Given the description of an element on the screen output the (x, y) to click on. 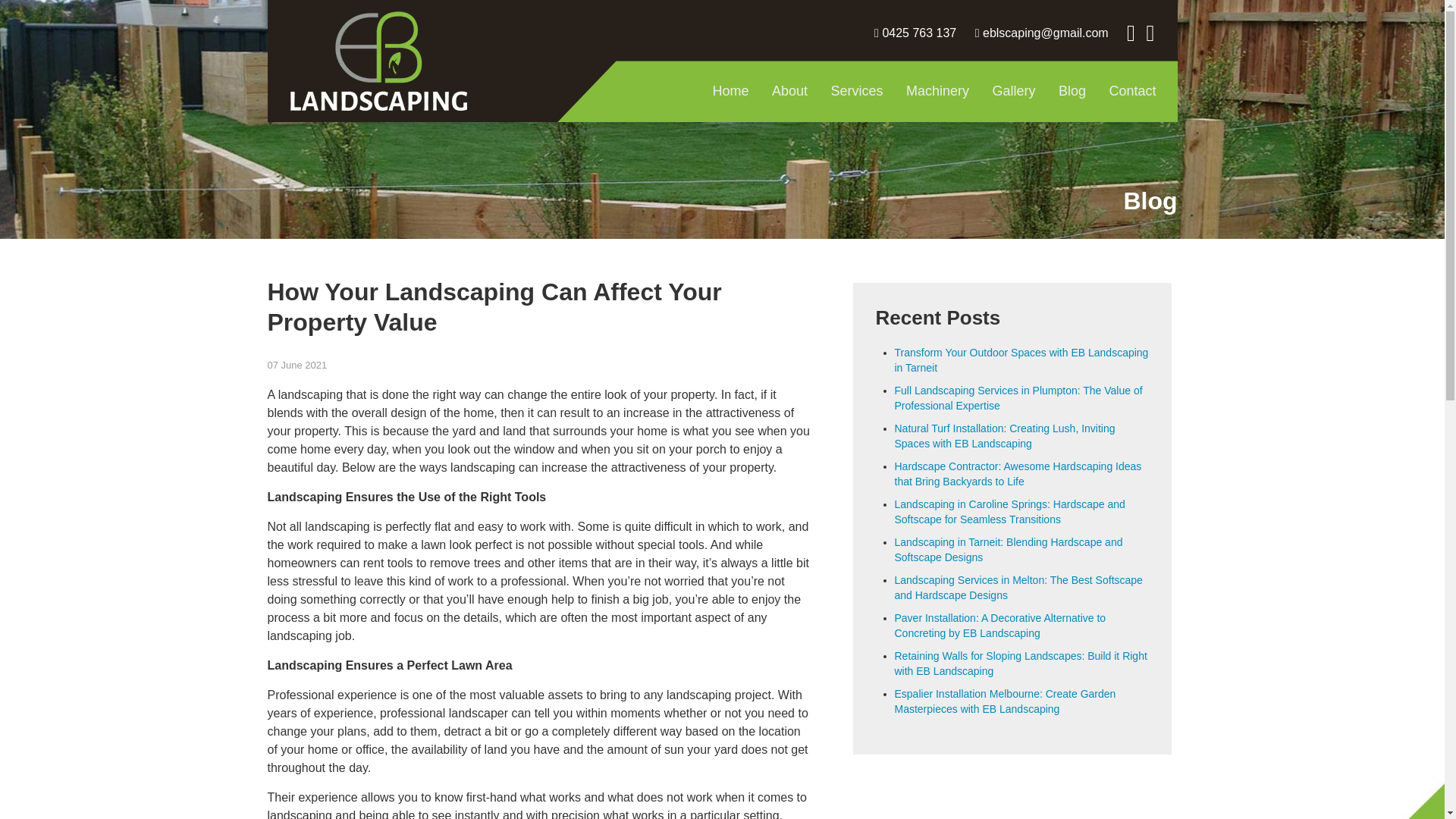
Services (857, 90)
Home (730, 90)
Machinery (937, 90)
Transform Your Outdoor Spaces with EB Landscaping in Tarneit (1021, 359)
Blog (1072, 90)
Gallery (1013, 90)
About (788, 90)
